Given the description of an element on the screen output the (x, y) to click on. 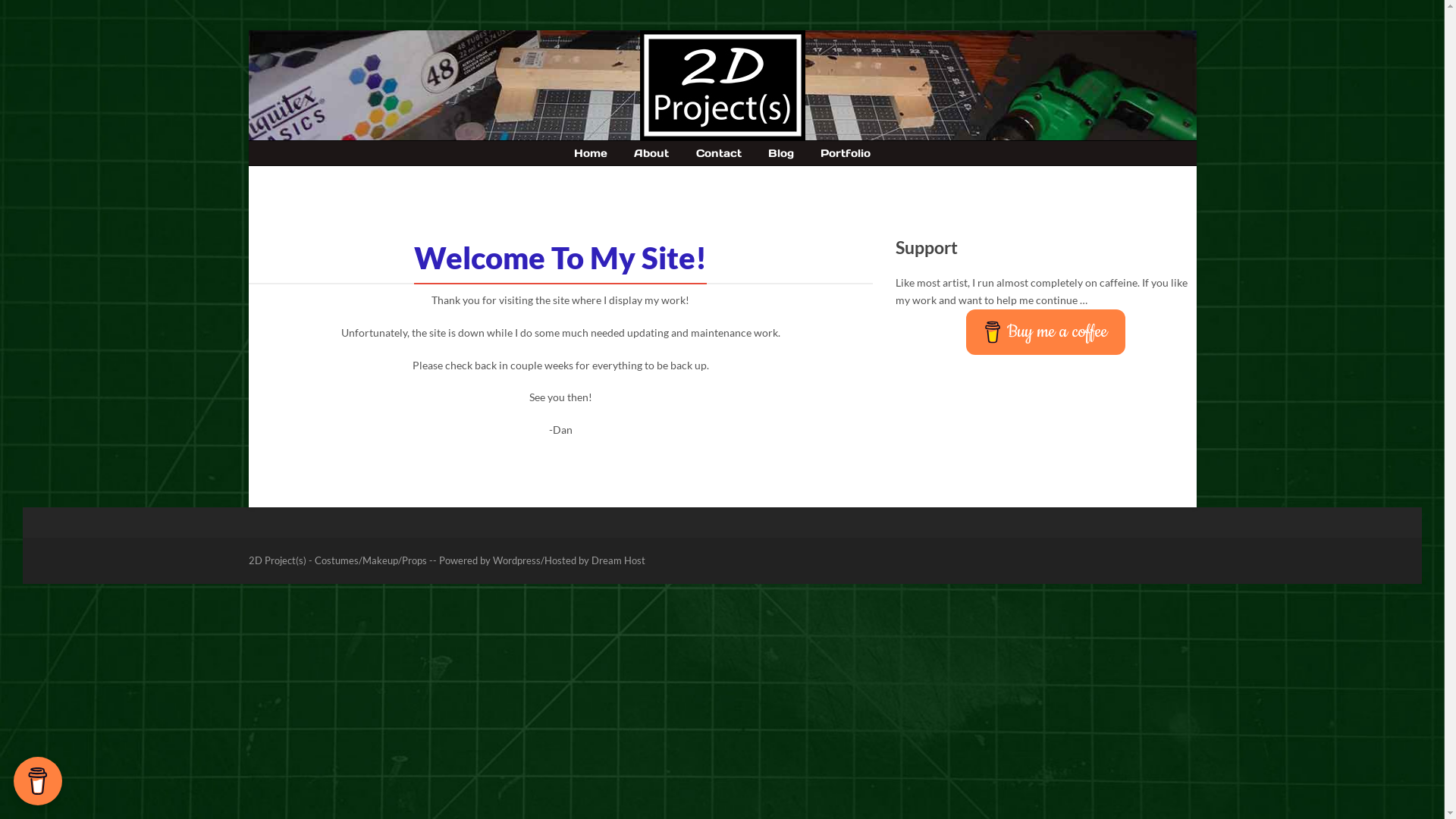
Buy me a coffee Element type: text (1045, 331)
Home Element type: text (590, 153)
About Element type: text (650, 153)
Portfolio Element type: text (845, 153)
Contact Element type: text (718, 153)
Blog Element type: text (781, 153)
